Given the description of an element on the screen output the (x, y) to click on. 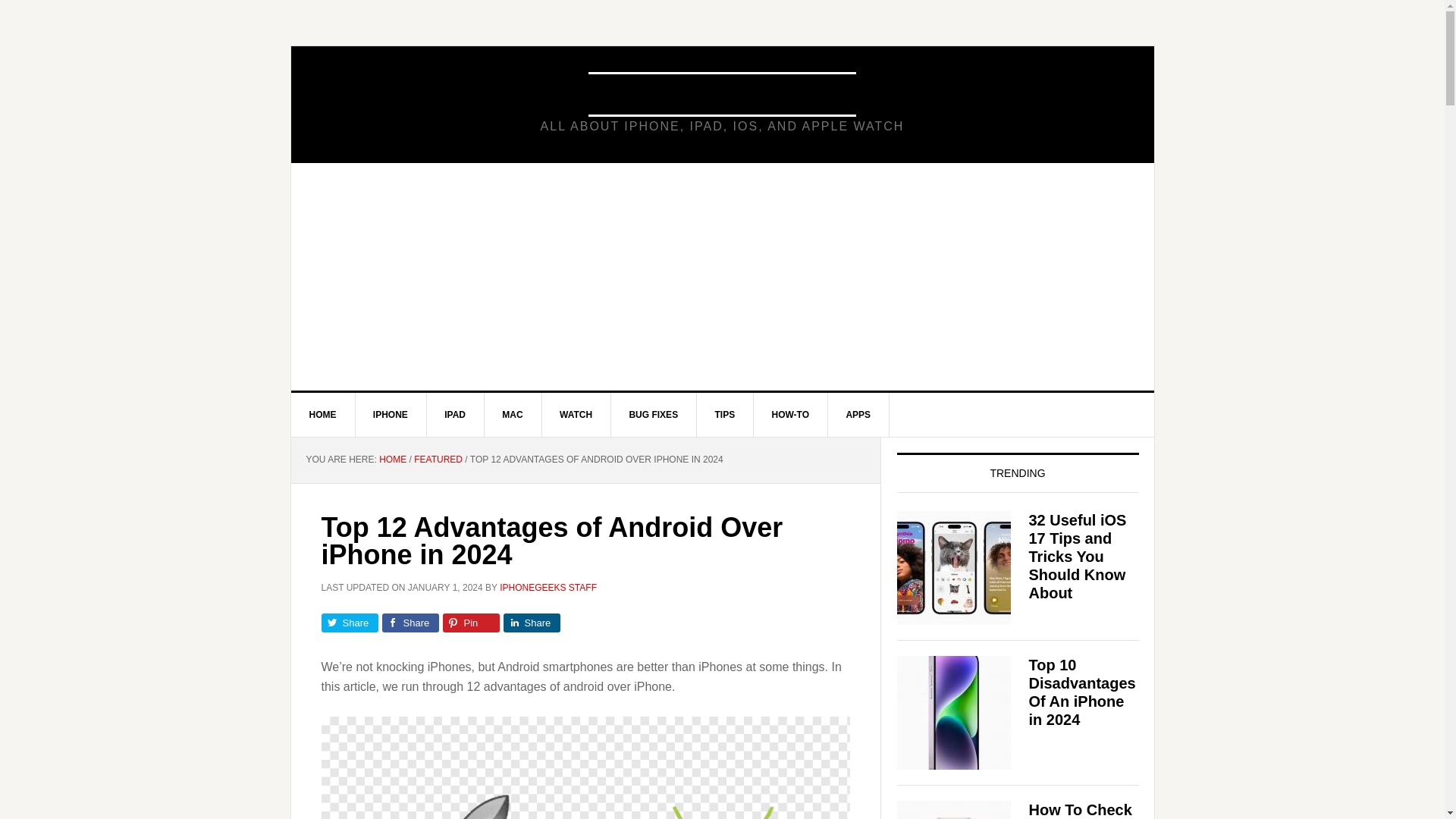
WATCH (576, 414)
HOME (392, 459)
Top 10 Disadvantages Of An iPhone in 2024 (1081, 692)
Pin (470, 622)
IPHONEGEEKS (722, 94)
APPS (858, 414)
MAC (512, 414)
32 Useful iOS 17 Tips and Tricks You Should Know About (1076, 556)
Share (531, 622)
IPHONEGEEKS STAFF (547, 587)
FEATURED (438, 459)
HOME (323, 414)
IPHONE (390, 414)
Share (410, 622)
